Given the description of an element on the screen output the (x, y) to click on. 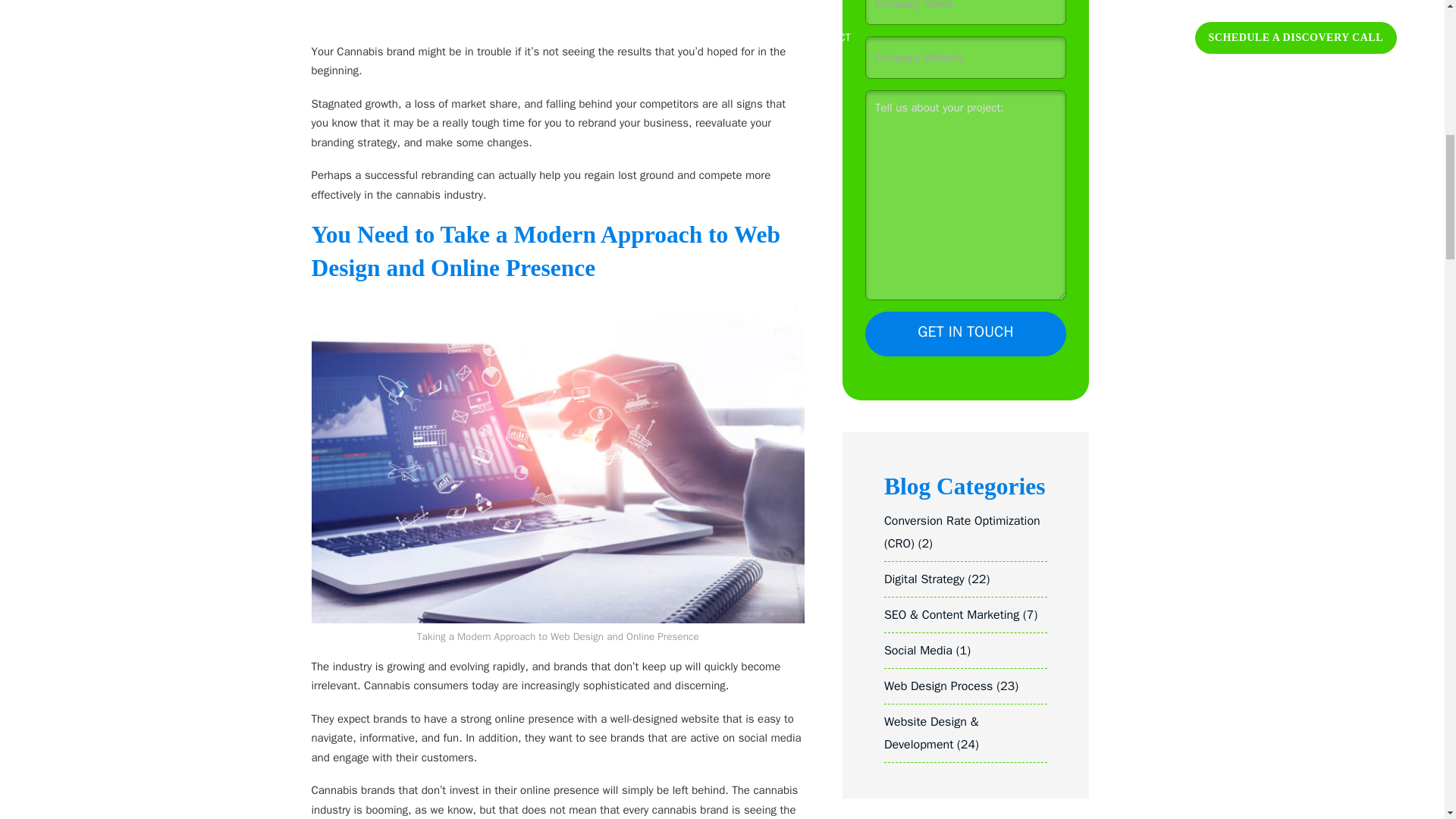
Get in touch (964, 334)
Web Design Process (937, 685)
Social Media (917, 650)
Digital Strategy (923, 579)
5 Reasons Your Cannabis Brand Might Need to Rebrand in 2022 (557, 15)
Get in touch (964, 334)
